Given the description of an element on the screen output the (x, y) to click on. 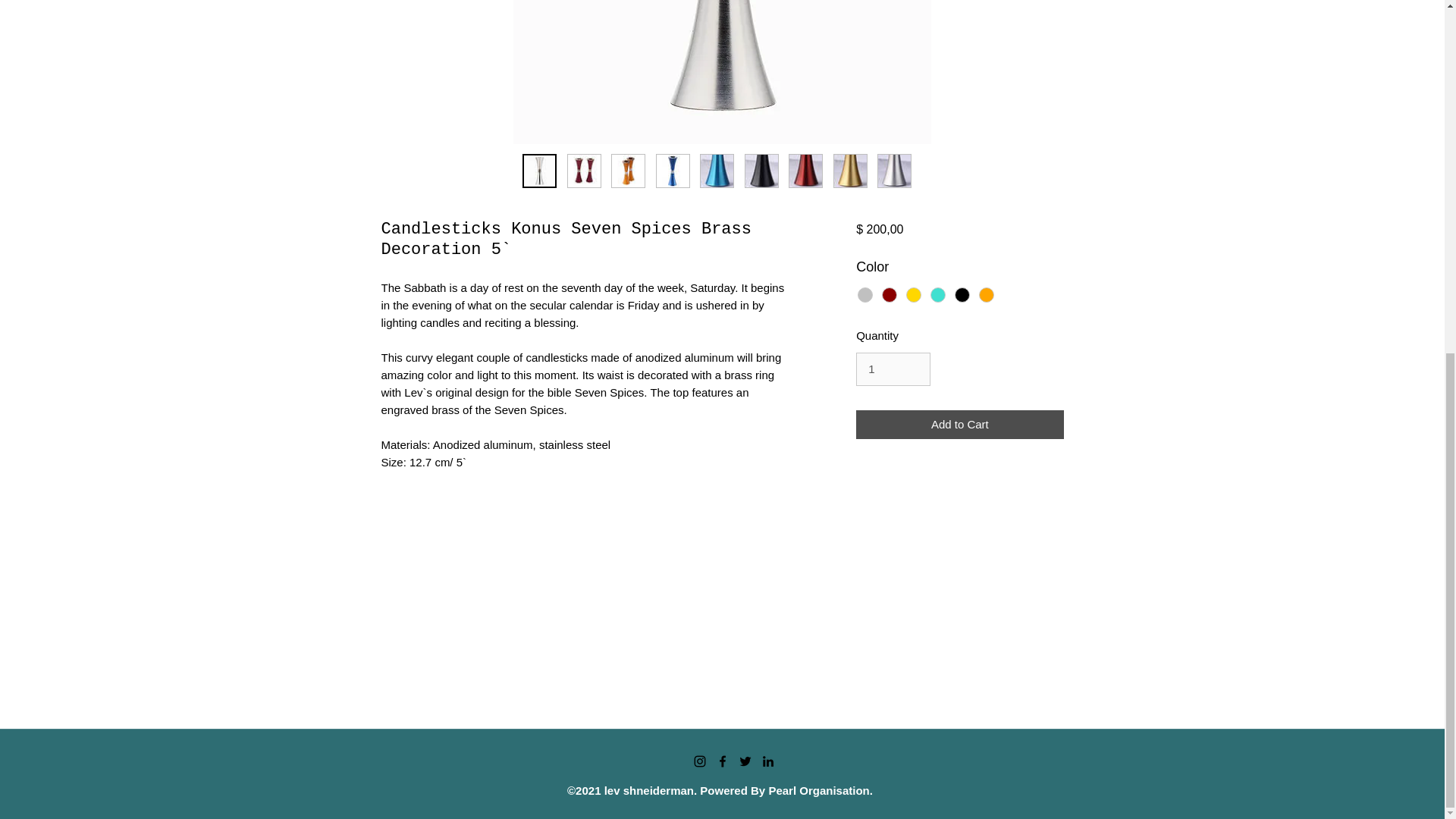
1 (893, 368)
Add to Cart (959, 424)
Pearl Organisation. (820, 789)
